Given the description of an element on the screen output the (x, y) to click on. 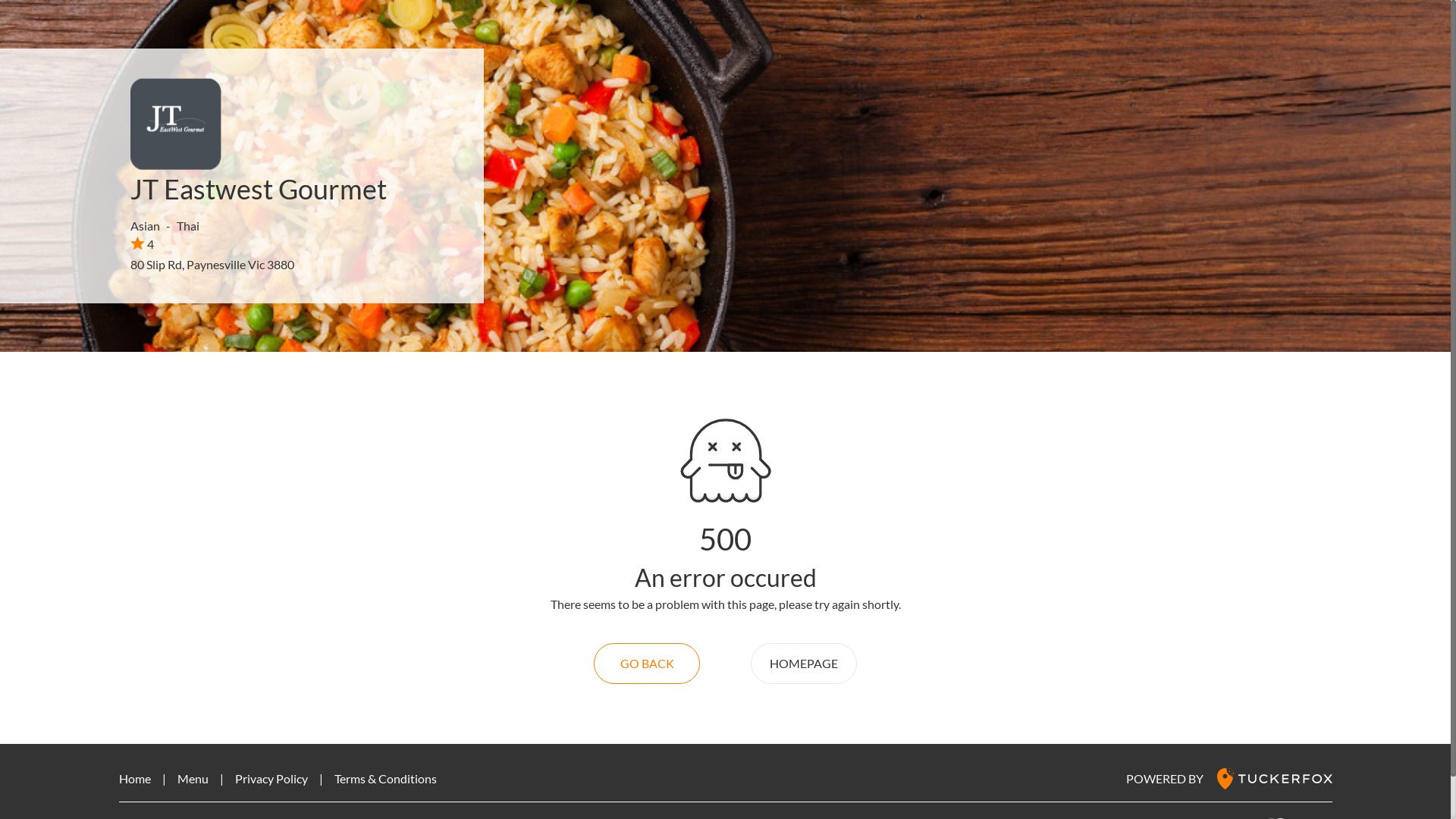
Privacy Policy Element type: text (271, 778)
HOMEPAGE Element type: text (803, 663)
GO BACK Element type: text (646, 663)
Home Element type: text (134, 778)
JT Eastwest Gourmet Element type: text (258, 188)
4 Element type: text (141, 243)
Terms & Conditions Element type: text (384, 778)
Menu Element type: text (192, 778)
